Given the description of an element on the screen output the (x, y) to click on. 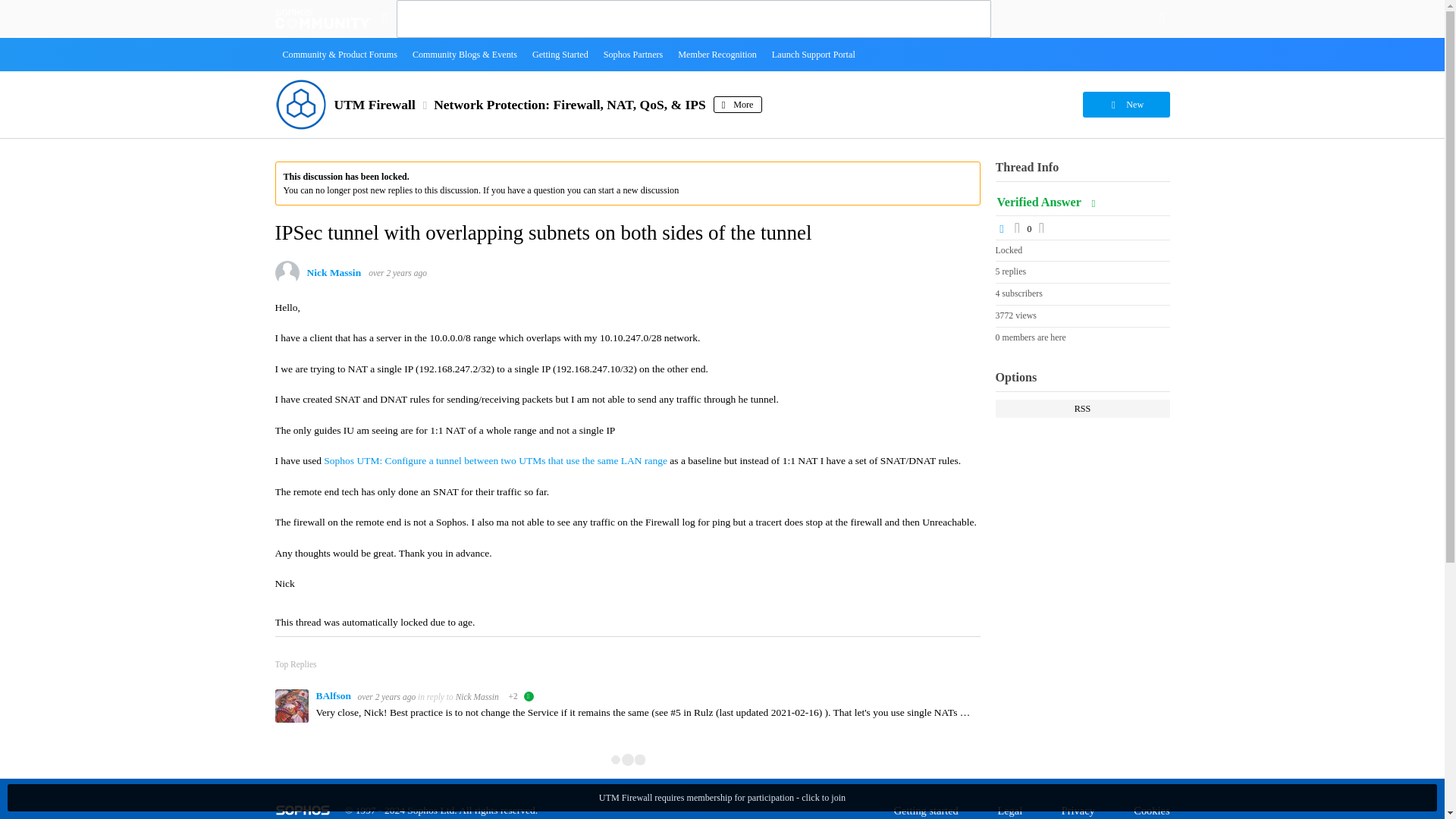
Sophos Partners (633, 54)
Getting Started (559, 54)
UTM Firewall (373, 104)
Home (322, 18)
Site (384, 18)
Launch Support Portal (813, 54)
Groups (384, 18)
Join or sign in (1161, 17)
User (1161, 17)
Member Recognition (716, 54)
